Given the description of an element on the screen output the (x, y) to click on. 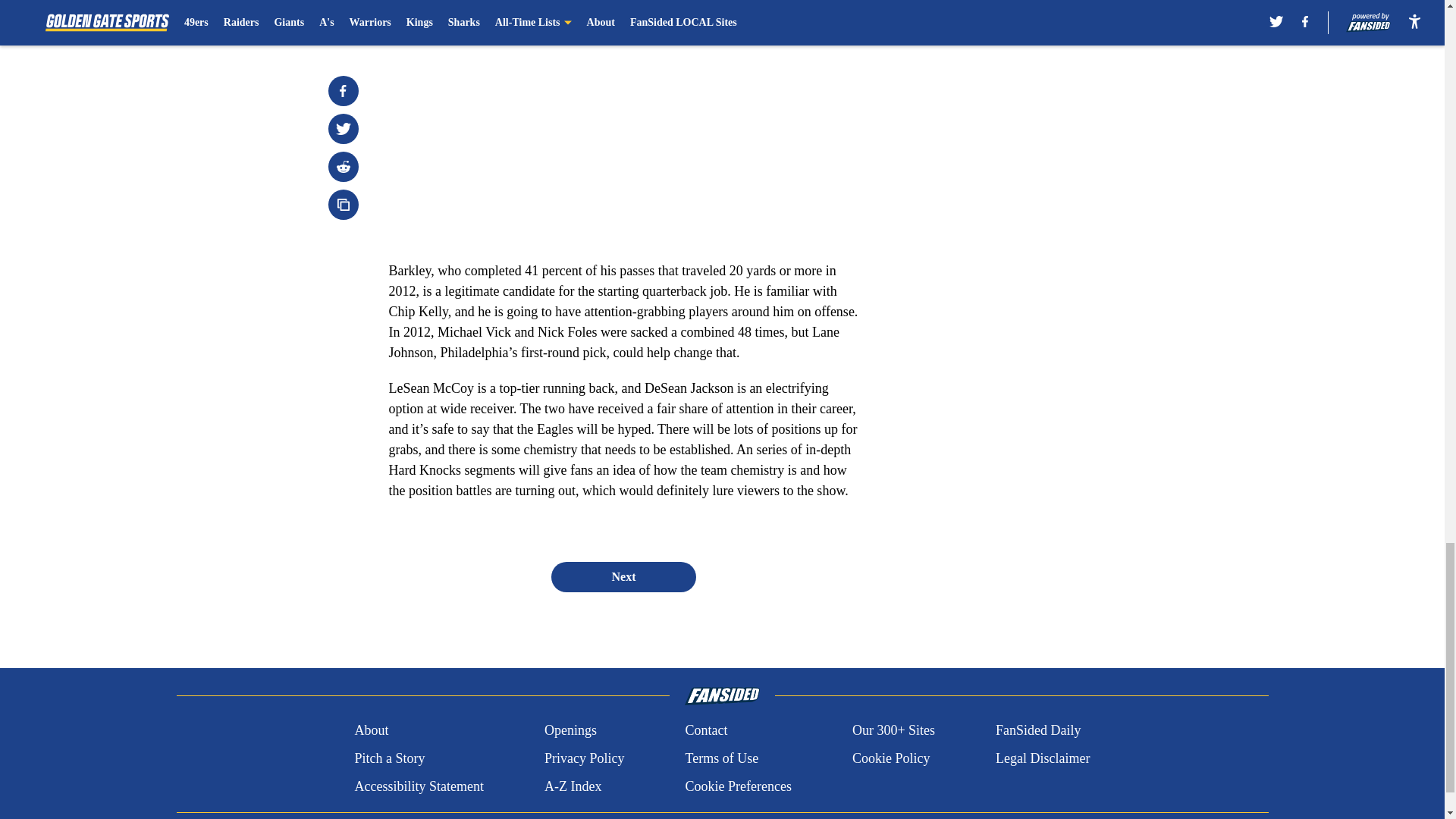
About (370, 730)
Next (622, 576)
Contact (705, 730)
Privacy Policy (584, 758)
Pitch a Story (389, 758)
Openings (570, 730)
FanSided Daily (1038, 730)
